Given the description of an element on the screen output the (x, y) to click on. 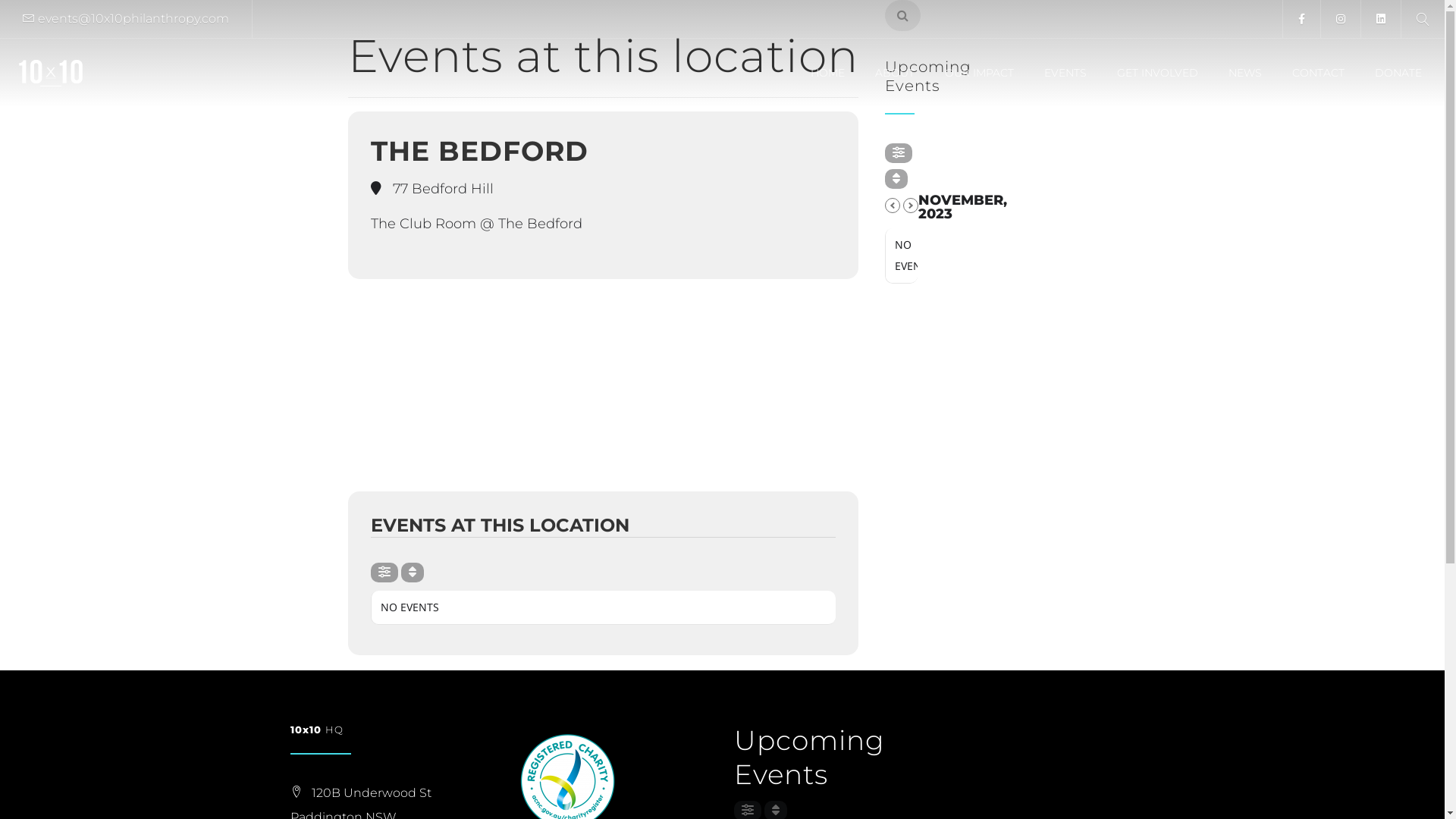
ABOUT Element type: text (890, 72)
Home Element type: hover (50, 72)
CONTACT Element type: text (1314, 72)
HOME Element type: text (823, 72)
GET INVOLVED Element type: text (1153, 72)
DONATE Element type: text (1394, 72)
LinkedIn Element type: hover (1380, 18)
EVENTS Element type: text (1061, 72)
NEWS Element type: text (1241, 72)
OUR IMPACT Element type: text (975, 72)
Search Element type: text (45, 15)
Instagram Element type: hover (1340, 18)
Facebook Element type: hover (1301, 18)
